Given the description of an element on the screen output the (x, y) to click on. 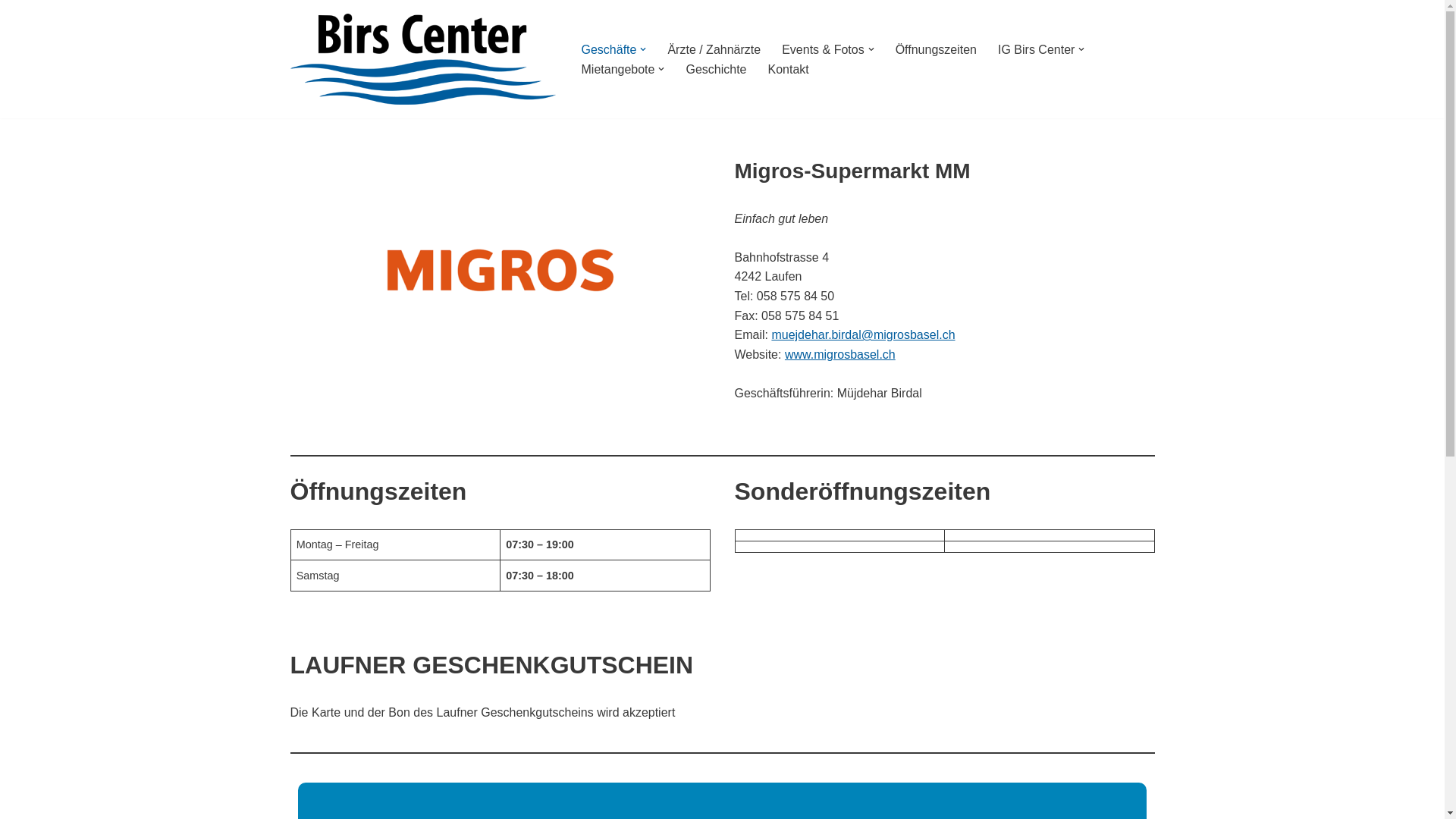
Zum Inhalt Element type: text (11, 31)
IG Birs Center Element type: text (1035, 49)
Geschichte Element type: text (715, 69)
muejdehar.birdal@migrosbasel.ch Element type: text (862, 334)
www.migrosbasel.ch Element type: text (839, 354)
Events & Fotos Element type: text (822, 49)
Mietangebote Element type: text (617, 69)
Kontakt Element type: text (788, 69)
